Given the description of an element on the screen output the (x, y) to click on. 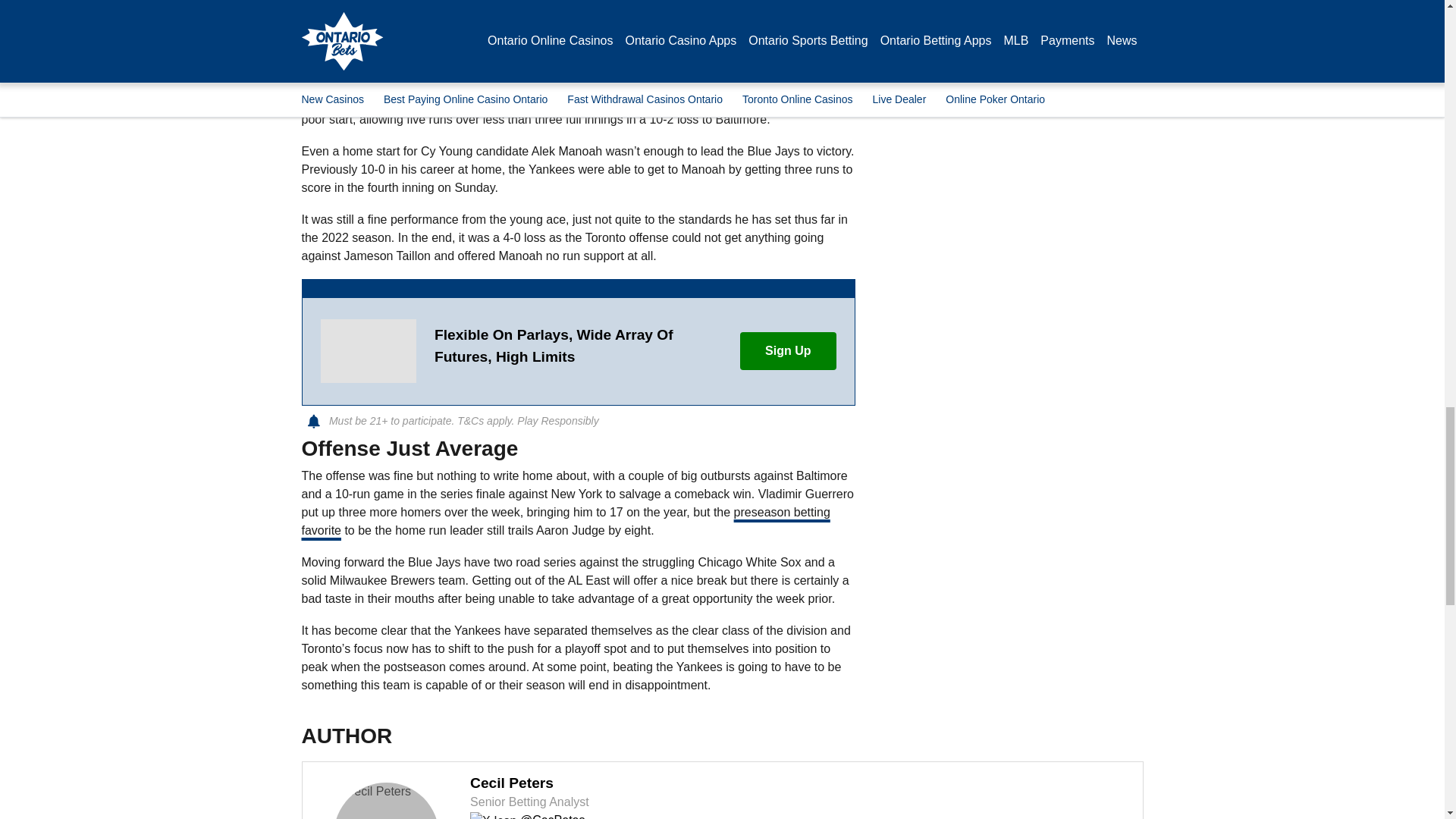
Cecil Peters (386, 800)
Caesars Sports (367, 351)
